Given the description of an element on the screen output the (x, y) to click on. 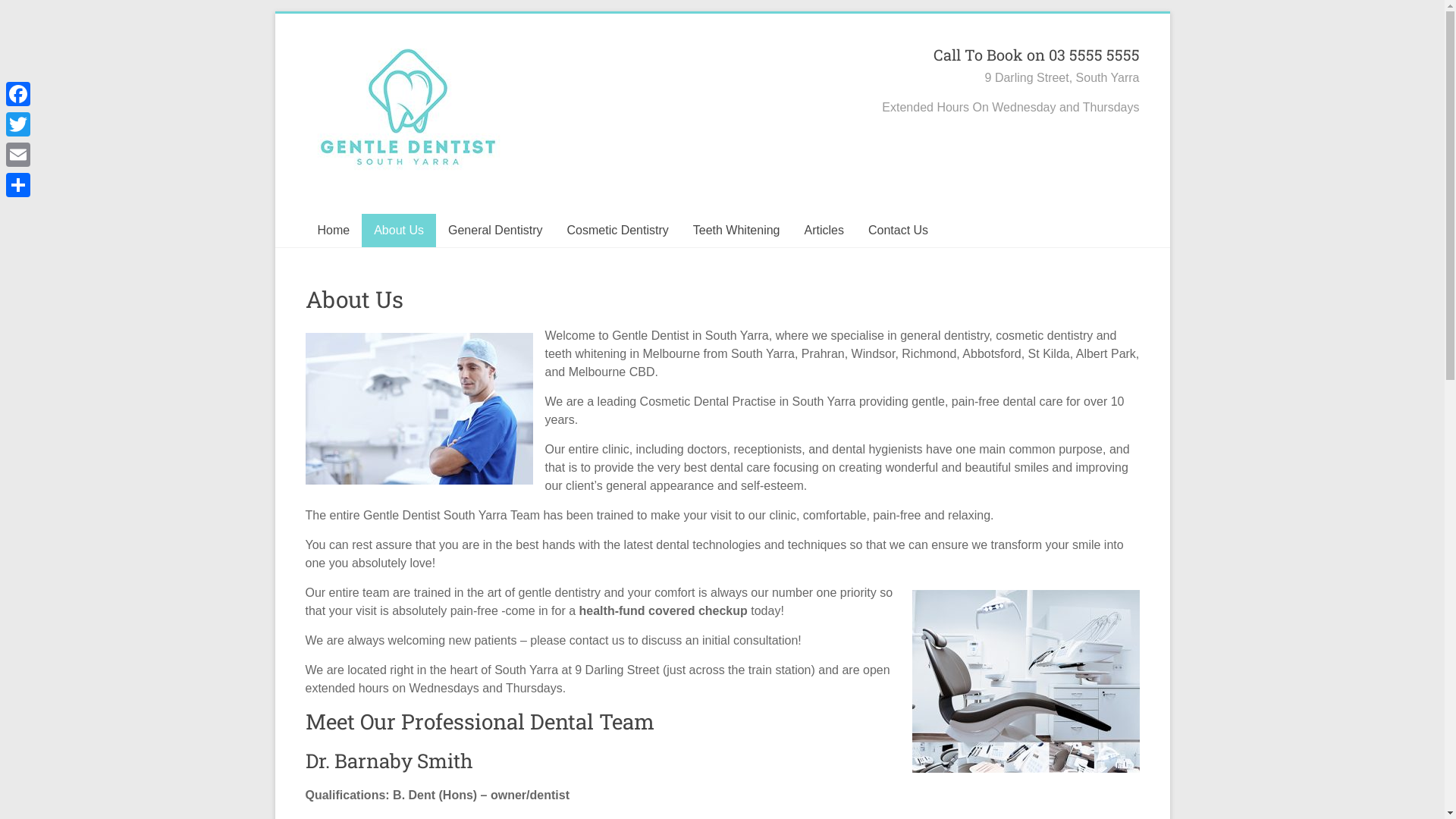
Email Element type: text (18, 154)
About Us Element type: text (398, 230)
Share Element type: text (18, 184)
Contact Us Element type: text (898, 230)
Gentle Dentist South Yarra Element type: text (350, 100)
Facebook Element type: text (18, 93)
Home Element type: text (332, 230)
Cosmetic Dentistry Element type: text (617, 230)
Teeth Whitening Element type: text (736, 230)
Twitter Element type: text (18, 124)
Articles Element type: text (823, 230)
General Dentistry Element type: text (495, 230)
Skip to content Element type: text (274, 12)
